Given the description of an element on the screen output the (x, y) to click on. 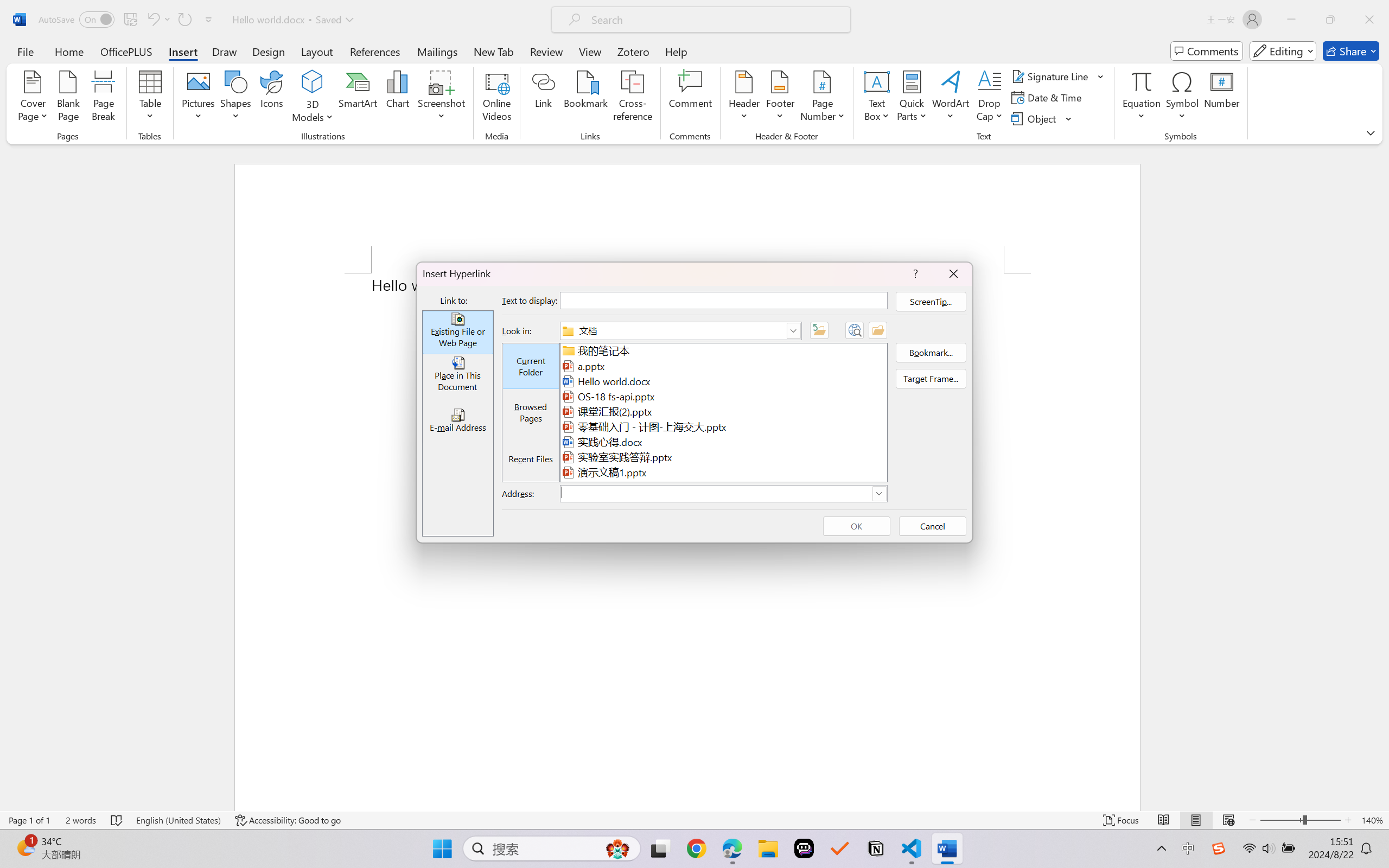
Symbol (1181, 97)
Text Box (876, 97)
Table (149, 97)
Chart... (396, 97)
3D Models (312, 97)
Text to display: (723, 300)
Can't Repeat (184, 19)
AutomationID: DynamicSearchBoxGleamImage (617, 848)
Place in This Document (457, 376)
Notion (875, 848)
Page Number (822, 97)
